Given the description of an element on the screen output the (x, y) to click on. 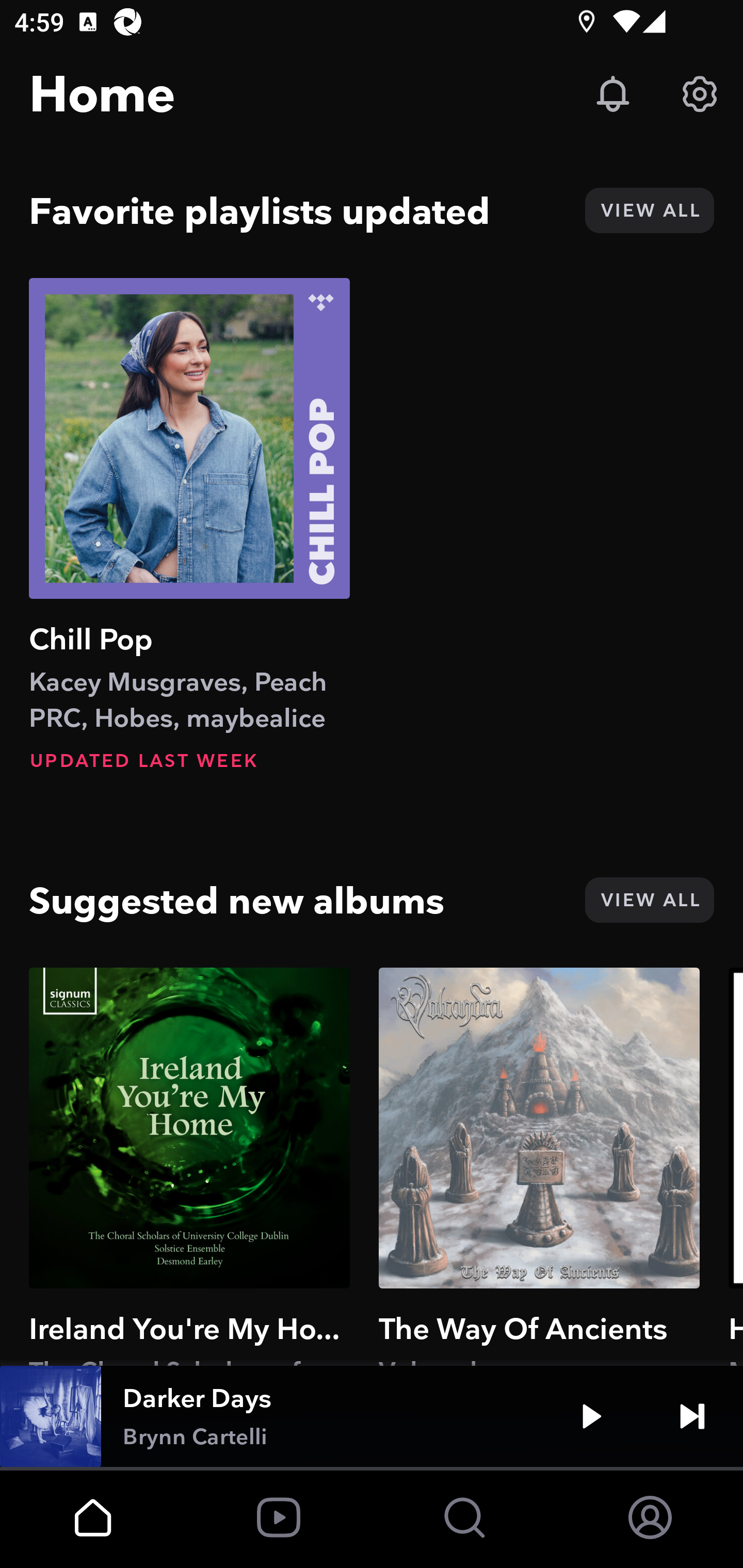
Updates (612, 93)
Settings (699, 93)
VIEW ALL (649, 210)
VIEW ALL (649, 899)
The Way Of Ancients Volcandra (538, 1166)
Darker Days Brynn Cartelli Play (371, 1416)
Play (590, 1416)
